Given the description of an element on the screen output the (x, y) to click on. 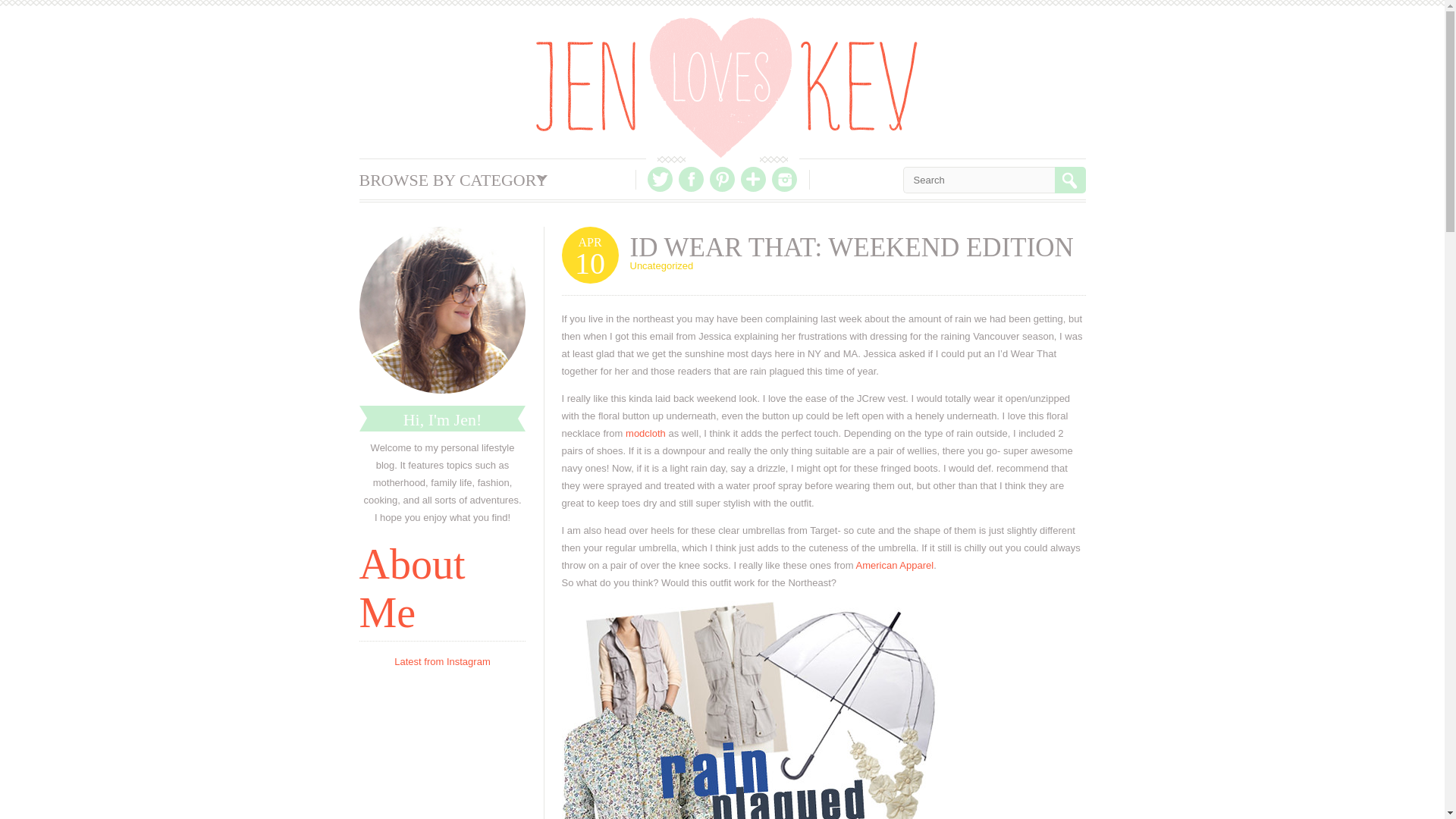
Twitter (659, 179)
Bloglovin (753, 179)
modcloth (645, 432)
ID WEAR THAT: WEEKEND EDITION (850, 247)
Facebook (690, 179)
Permalink to Id Wear That: Weekend Edition (850, 247)
Jen Loves Kev (726, 87)
Uncategorized (660, 265)
Jen Loves Kev (726, 87)
American Apparel (895, 564)
